Given the description of an element on the screen output the (x, y) to click on. 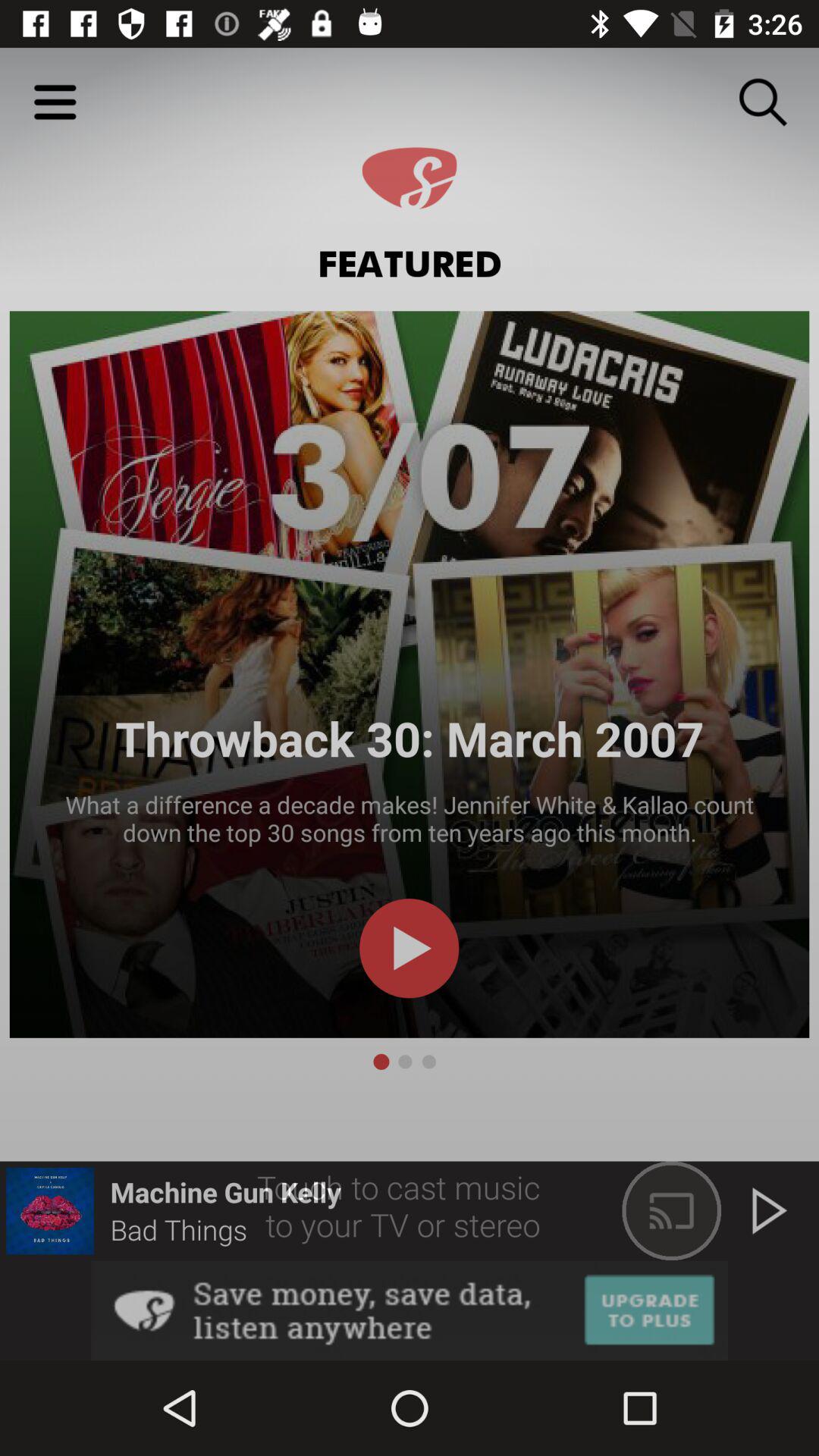
see an image (409, 1310)
